Given the description of an element on the screen output the (x, y) to click on. 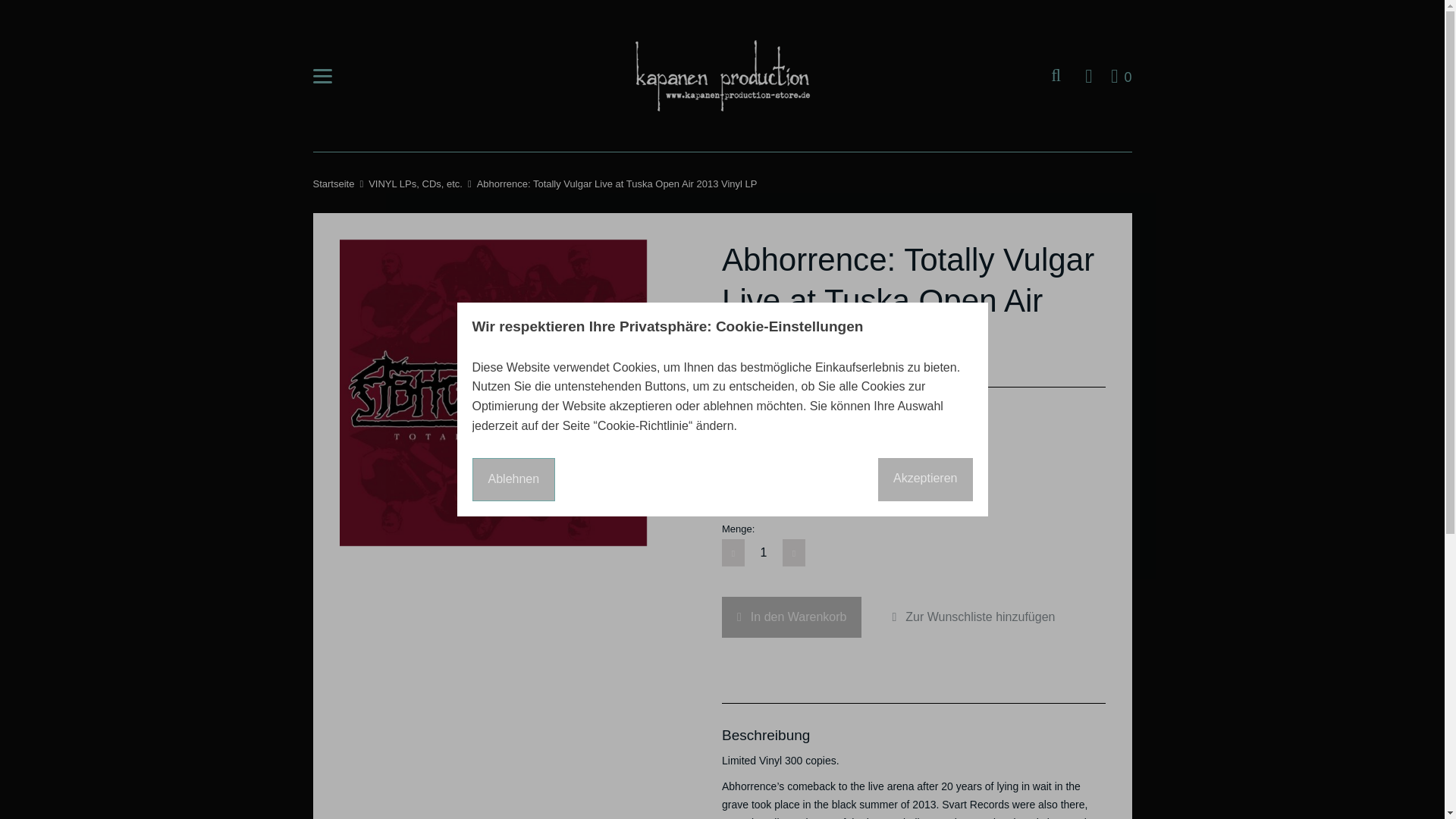
In den Warenkorb (791, 617)
1 (1120, 75)
Startseite (763, 552)
kapanen-production-store (333, 183)
zzgl. Versand (722, 75)
VINYL LPs, CDs, etc. (810, 446)
